Given the description of an element on the screen output the (x, y) to click on. 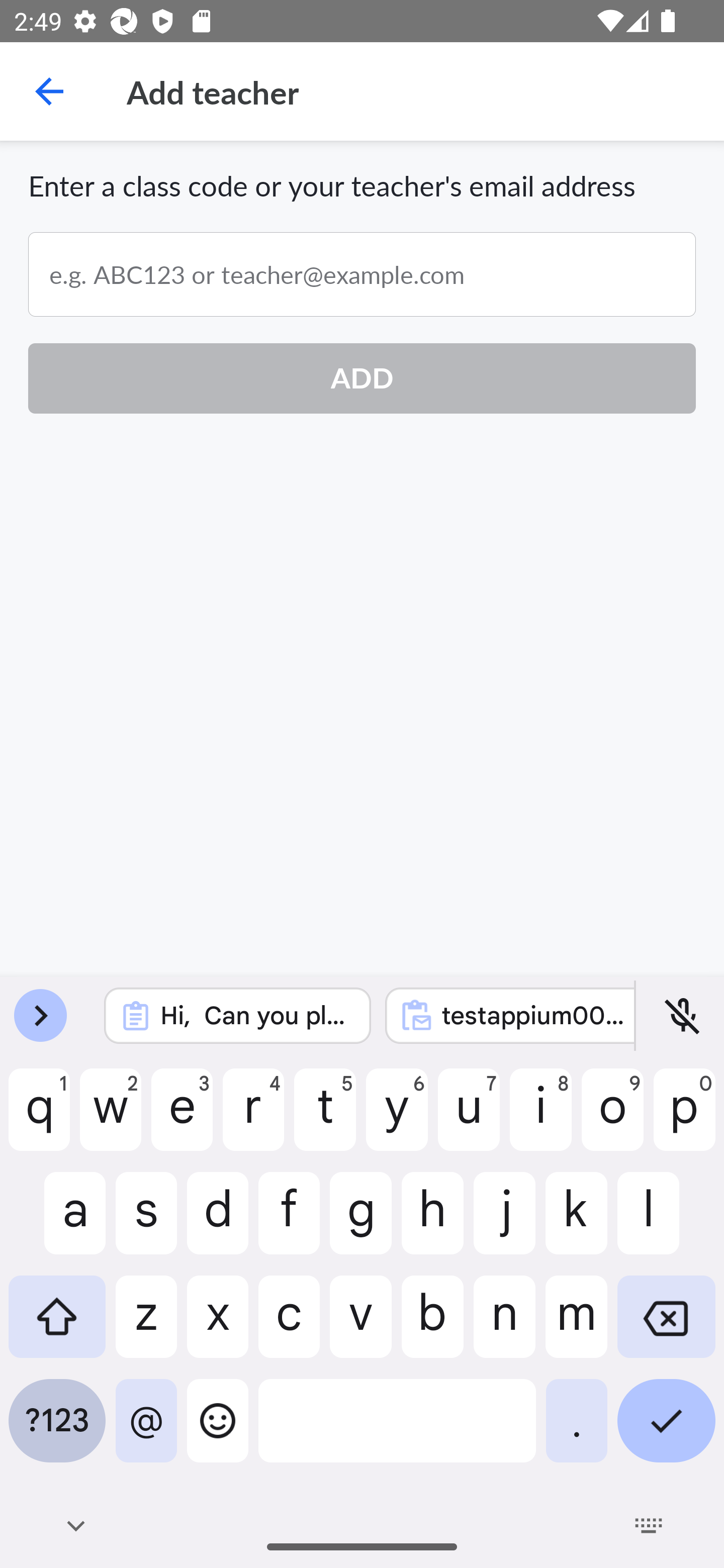
Navigate up (49, 91)
e.g. ABC123 or teacher@example.com (361, 274)
ADD (361, 378)
